Given the description of an element on the screen output the (x, y) to click on. 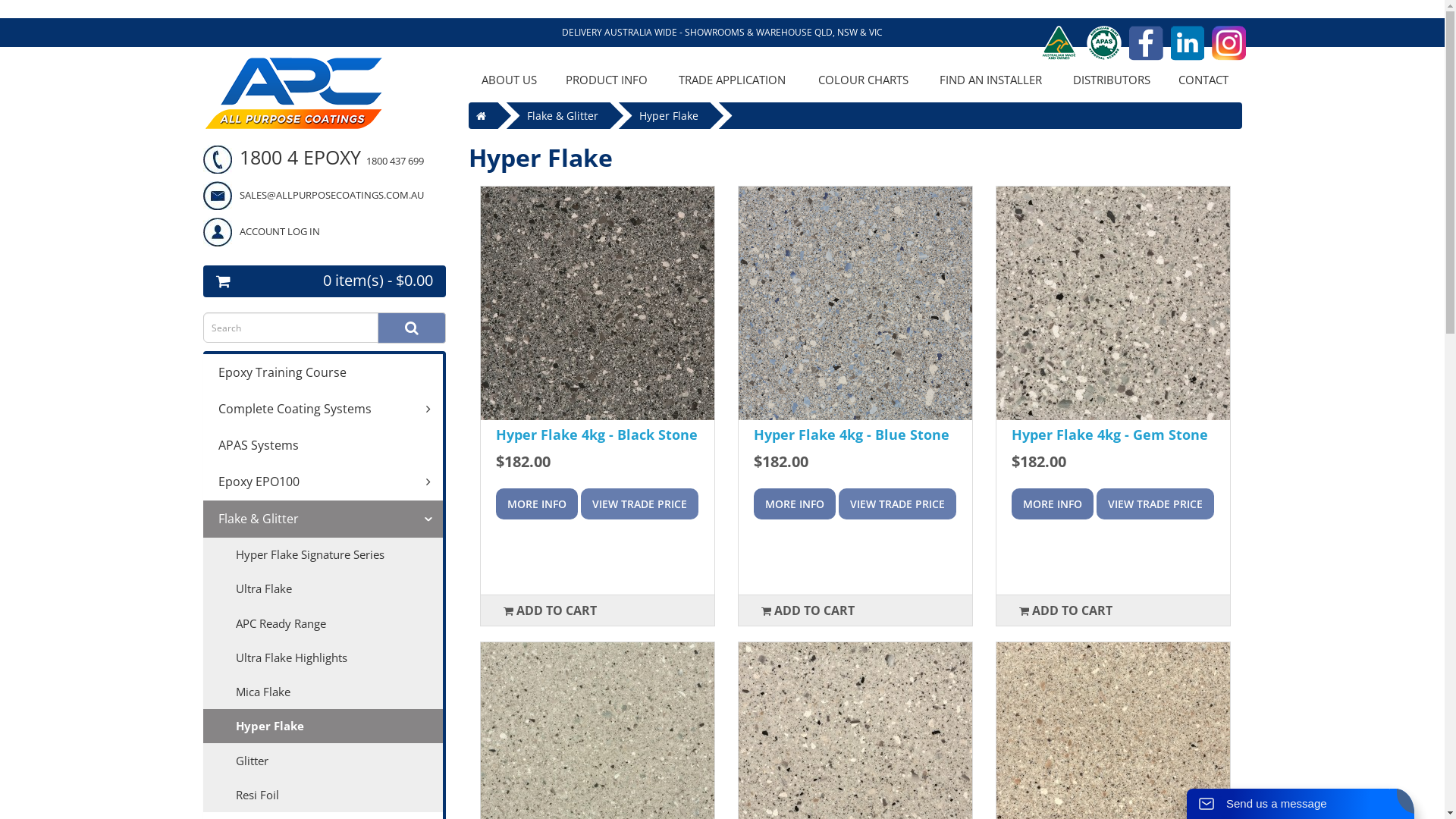
0 item(s) - $0.00 Element type: text (324, 281)
FIND AN INSTALLER Element type: text (990, 79)
Flake & Glitter Element type: text (322, 518)
ABOUT US Element type: text (509, 79)
ACCOUNT LOG IN Element type: text (261, 231)
CONTACT Element type: text (1203, 79)
Hyper Flake Element type: text (667, 115)
ADD TO CART Element type: text (1066, 610)
Epoxy EPO100 Element type: text (322, 482)
MORE INFO Element type: text (536, 503)
Complete Coating Systems Element type: text (322, 409)
APC Ready Range Element type: text (322, 622)
Hyper Flake 4kg - Blue Stone Element type: text (851, 434)
Hyper Flake Signature Series Element type: text (322, 554)
Mica Flake Element type: text (322, 691)
Glitter Element type: text (322, 760)
ADD TO CART Element type: text (808, 610)
TRADE APPLICATION Element type: text (732, 79)
ADD TO CART Element type: text (550, 610)
MORE INFO Element type: text (1052, 503)
Hyper Flake 4kg - Gem Stone Element type: hover (1113, 303)
COLOUR CHARTS Element type: text (862, 79)
MORE INFO Element type: text (794, 503)
APAS Systems Element type: text (322, 445)
Resi Foil Element type: text (322, 794)
1800 4 EPOXY 1800 437 699 Element type: text (313, 156)
DISTRIBUTORS Element type: text (1111, 79)
VIEW TRADE PRICE Element type: text (639, 503)
Ultra Flake Highlights Element type: text (322, 657)
Hyper Flake 4kg - Blue Stone Element type: hover (855, 303)
Ultra Flake Element type: text (322, 588)
VIEW TRADE PRICE Element type: text (1155, 503)
All Purpose Coatings Element type: hover (294, 92)
Hyper Flake 4kg - Gem Stone Element type: text (1109, 434)
Hyper Flake 4kg - Black Stone Element type: text (596, 434)
Hyper Flake Element type: text (322, 726)
Hyper Flake 4kg - Black Stone Element type: hover (597, 303)
Epoxy Training Course Element type: text (322, 372)
Flake & Glitter Element type: text (561, 115)
VIEW TRADE PRICE Element type: text (897, 503)
SALES@ALLPURPOSECOATINGS.COM.AU Element type: text (313, 194)
PRODUCT INFO Element type: text (606, 79)
